Given the description of an element on the screen output the (x, y) to click on. 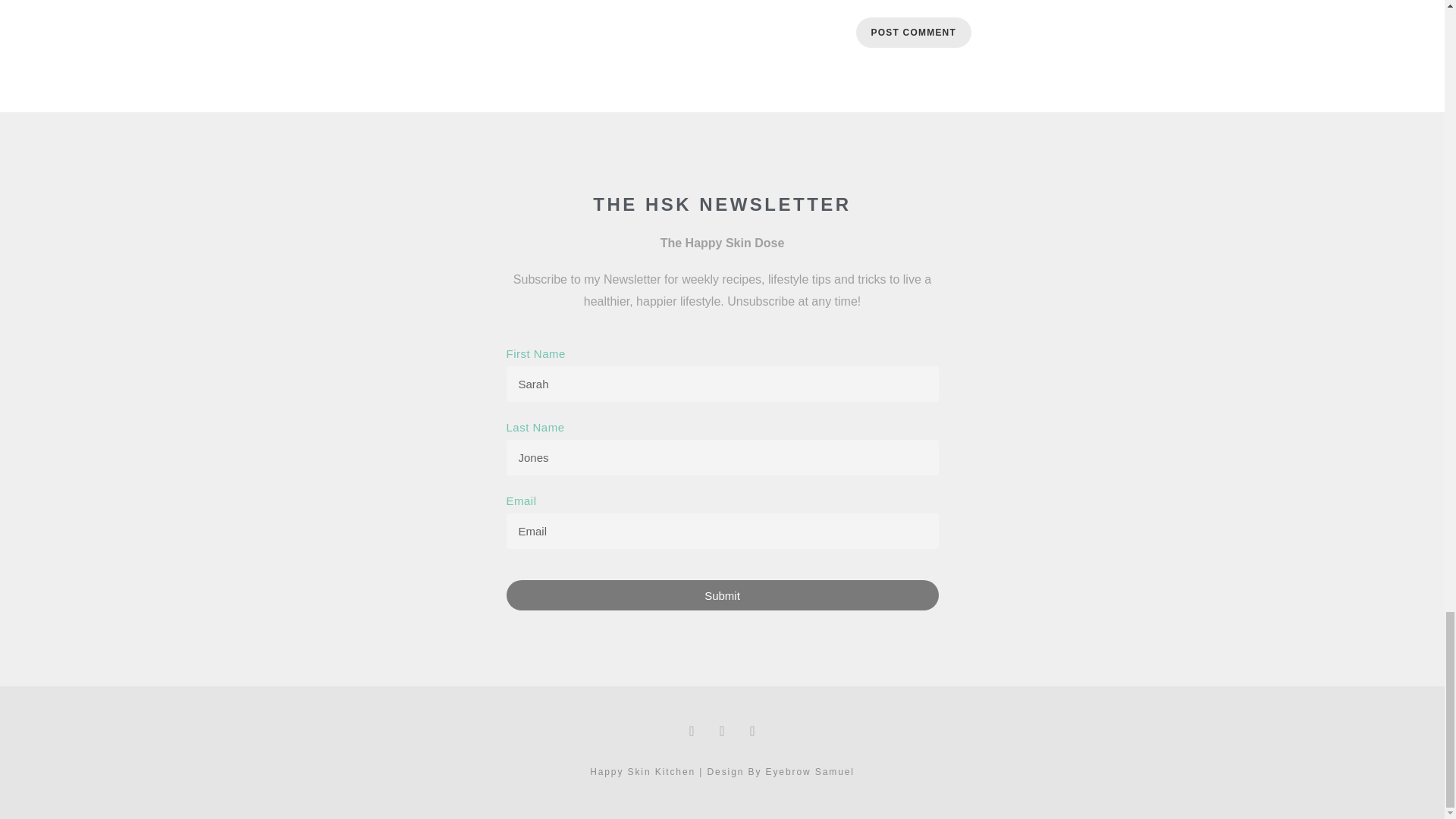
Post Comment (913, 32)
